Given the description of an element on the screen output the (x, y) to click on. 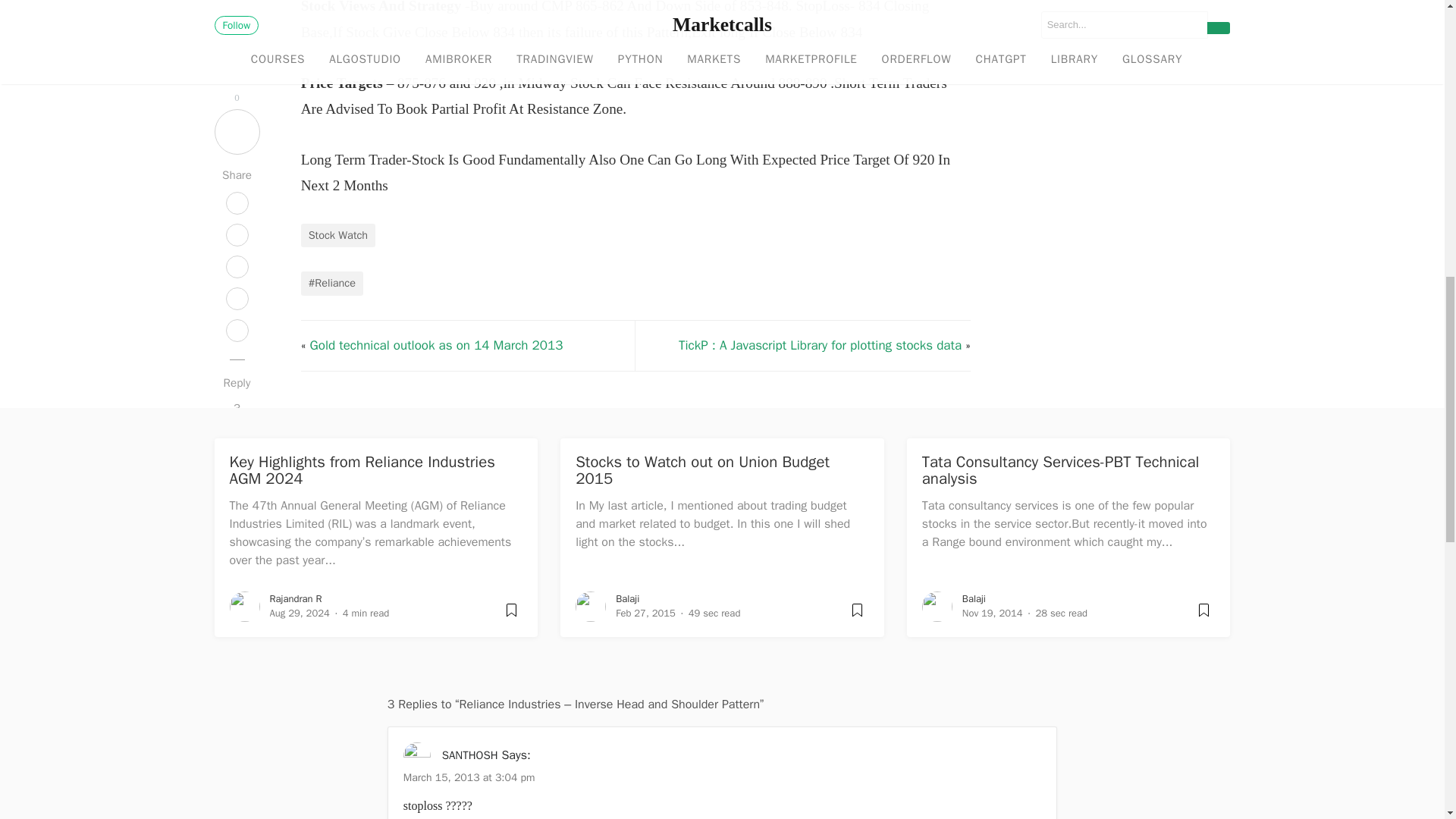
Stock Watch (338, 235)
TickP : A Javascript Library for plotting stocks data (819, 344)
Gold technical outlook as on 14 March 2013 (436, 344)
